Given the description of an element on the screen output the (x, y) to click on. 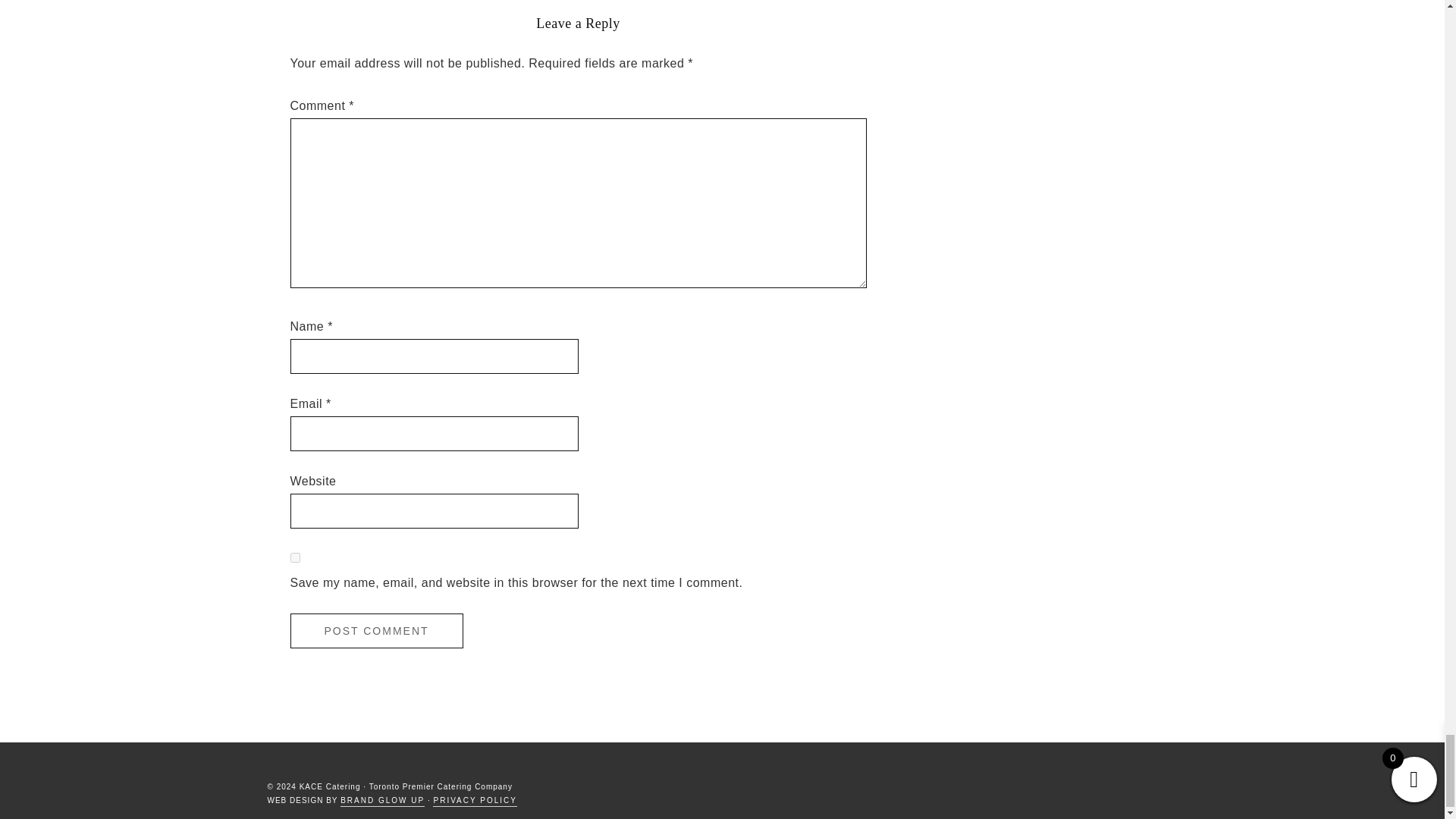
Post Comment (376, 630)
yes (294, 557)
Post Comment (376, 630)
